Given the description of an element on the screen output the (x, y) to click on. 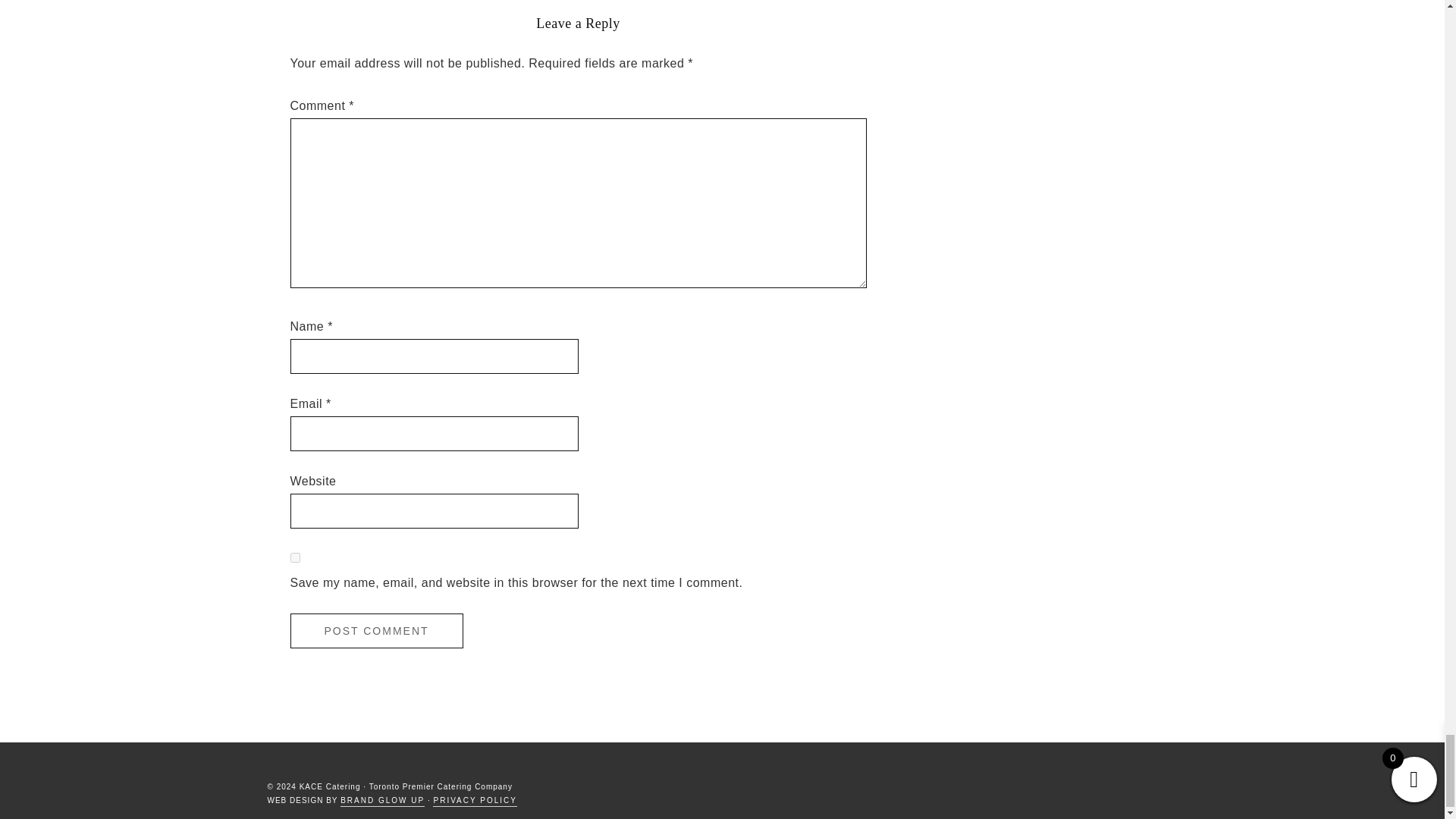
Post Comment (376, 630)
yes (294, 557)
Post Comment (376, 630)
